Given the description of an element on the screen output the (x, y) to click on. 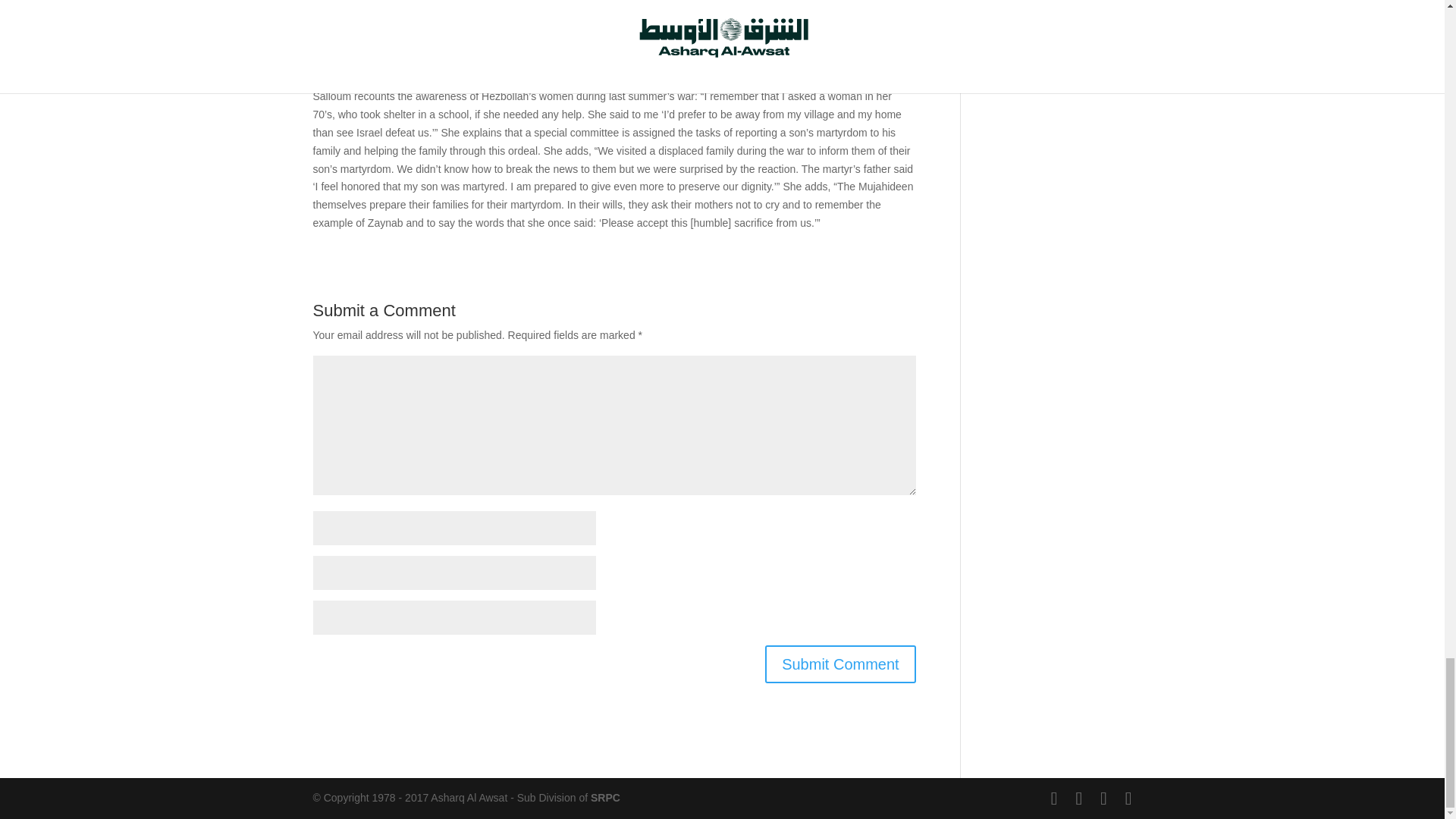
Submit Comment (840, 664)
Submit Comment (840, 664)
SRPC (605, 797)
